Given the description of an element on the screen output the (x, y) to click on. 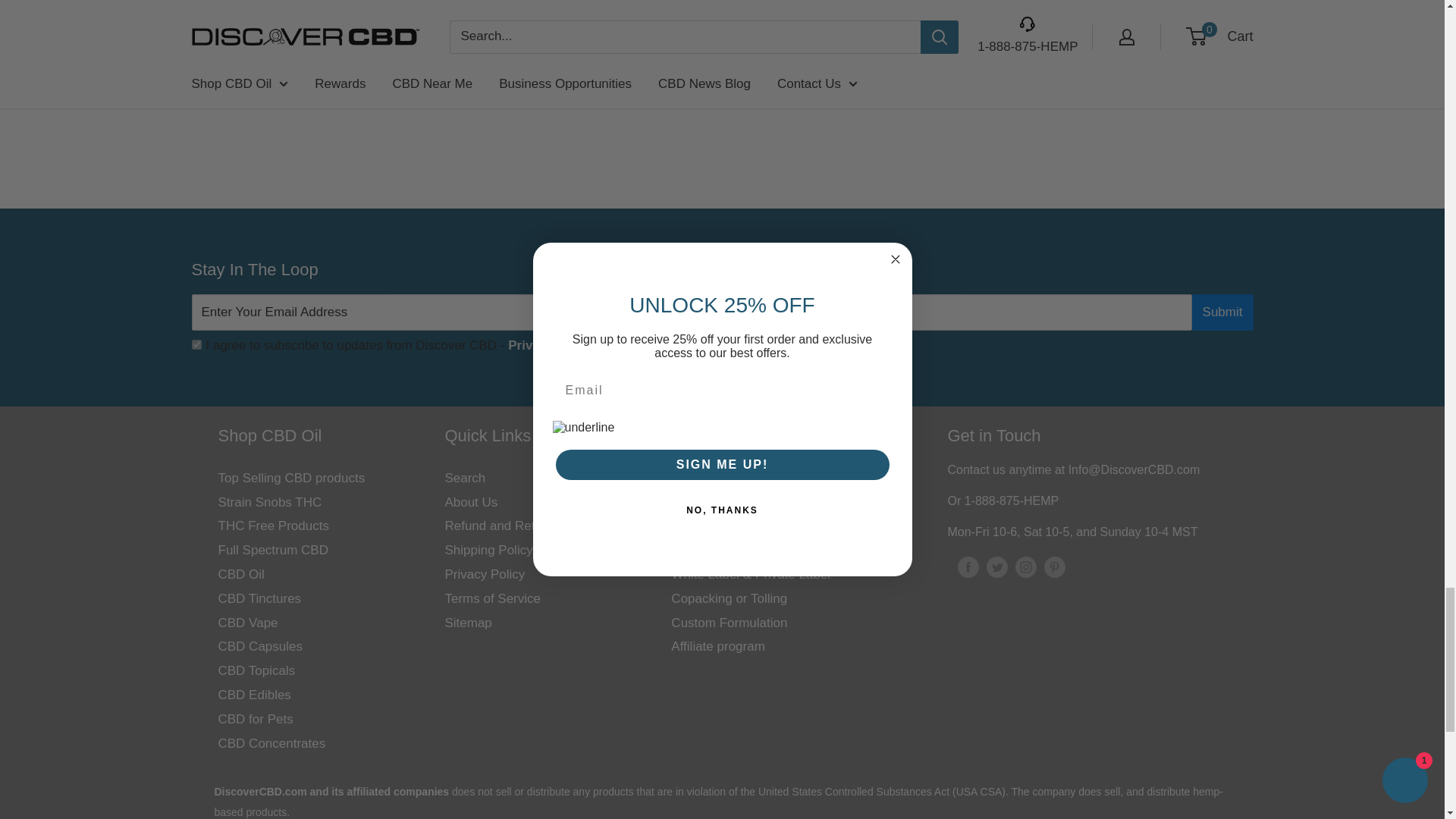
on (195, 344)
Terms of Service (551, 345)
